Given the description of an element on the screen output the (x, y) to click on. 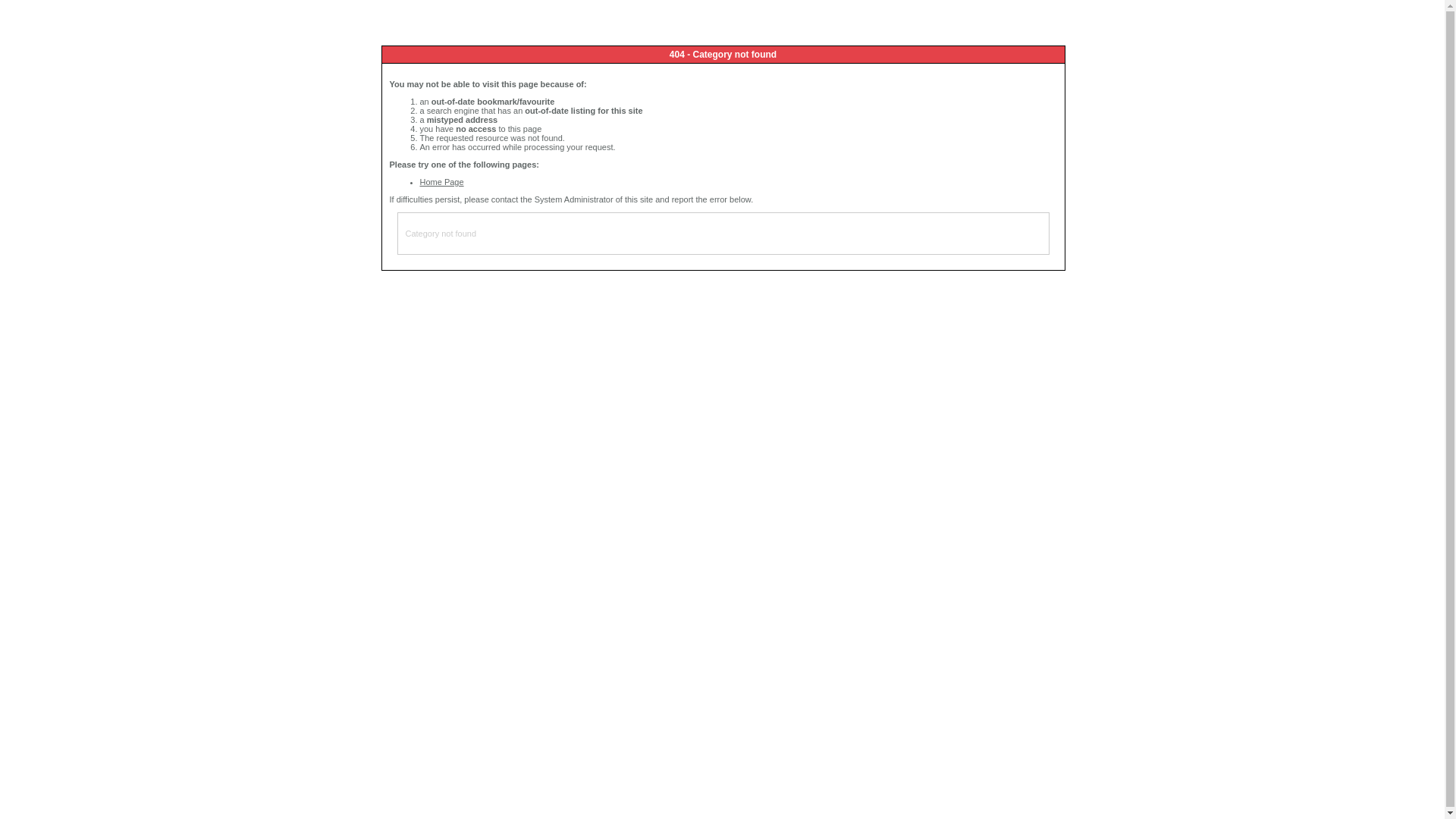
Home Page Element type: text (442, 181)
